Given the description of an element on the screen output the (x, y) to click on. 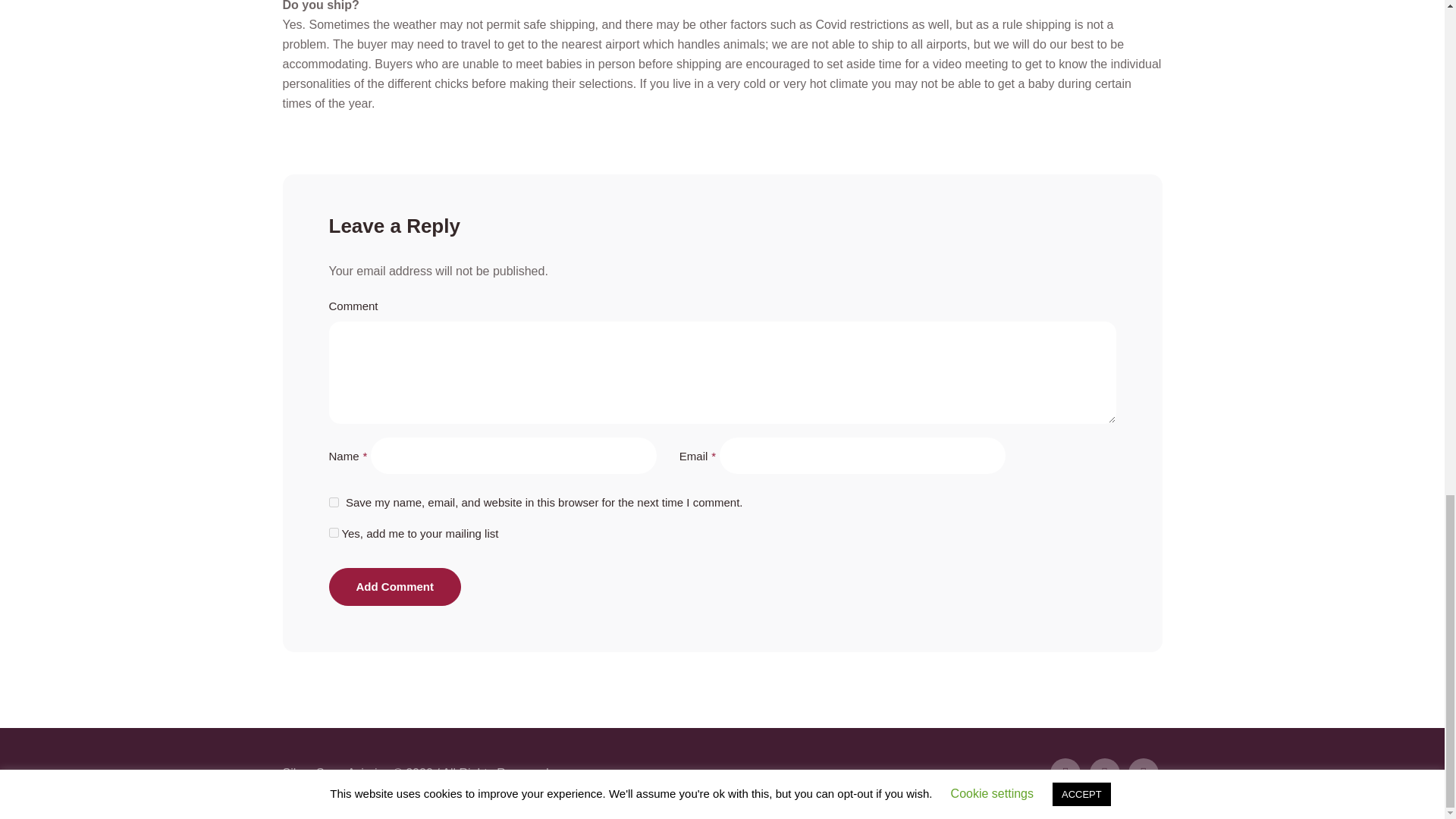
Twitter (1064, 773)
Add Comment (395, 587)
Facebook (1104, 773)
yes (334, 501)
1 (334, 532)
Instagram (1143, 773)
Add Comment (395, 587)
